Given the description of an element on the screen output the (x, y) to click on. 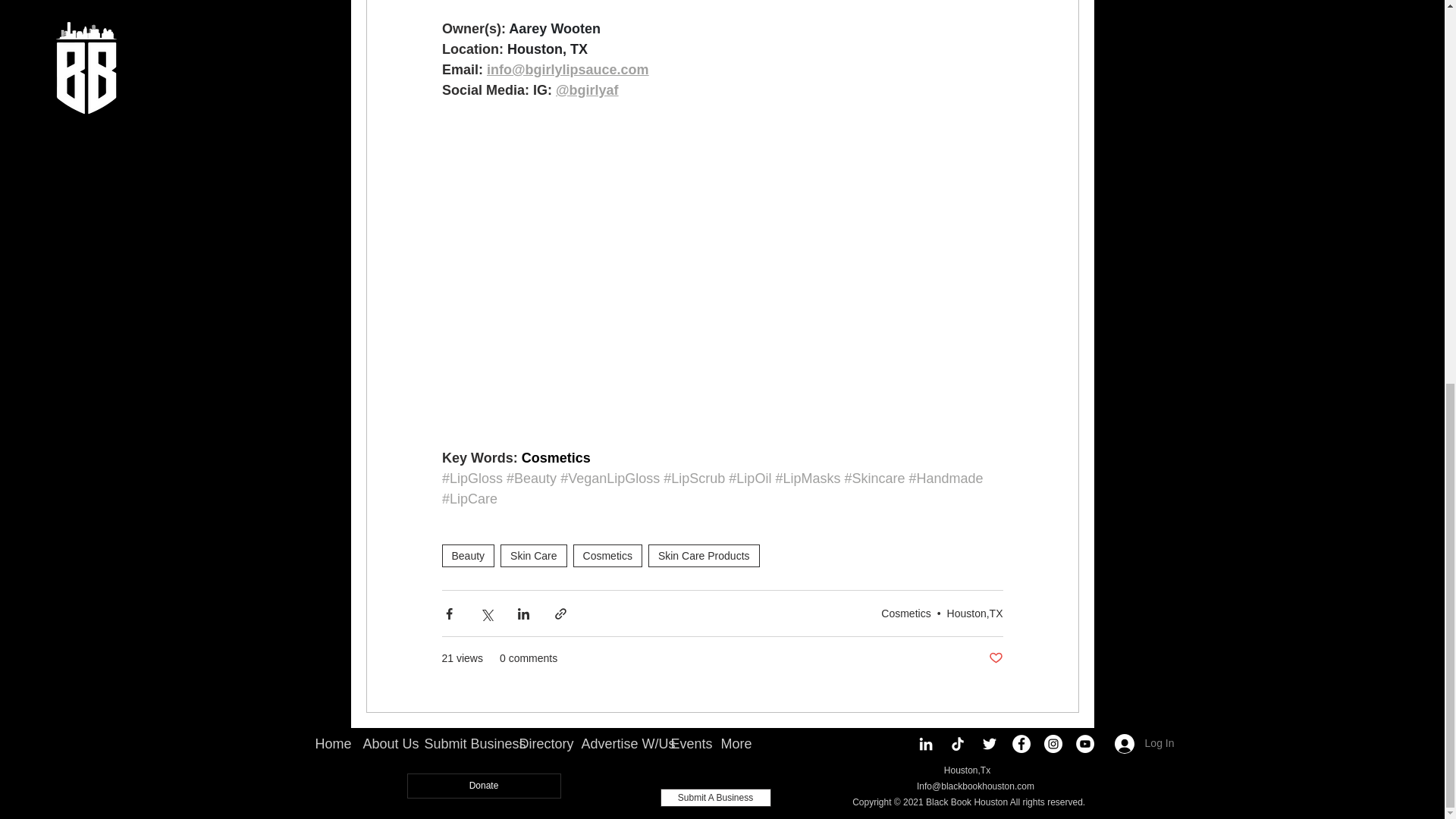
Skin Care (533, 555)
Cosmetics (607, 555)
Skin Care Products (703, 555)
Cosmetics (905, 613)
Houston,TX (975, 613)
Directory (539, 743)
Events (684, 743)
About Us (382, 743)
Post not marked as liked (995, 658)
Home (326, 743)
Beauty (468, 555)
Submit Business (459, 743)
